Given the description of an element on the screen output the (x, y) to click on. 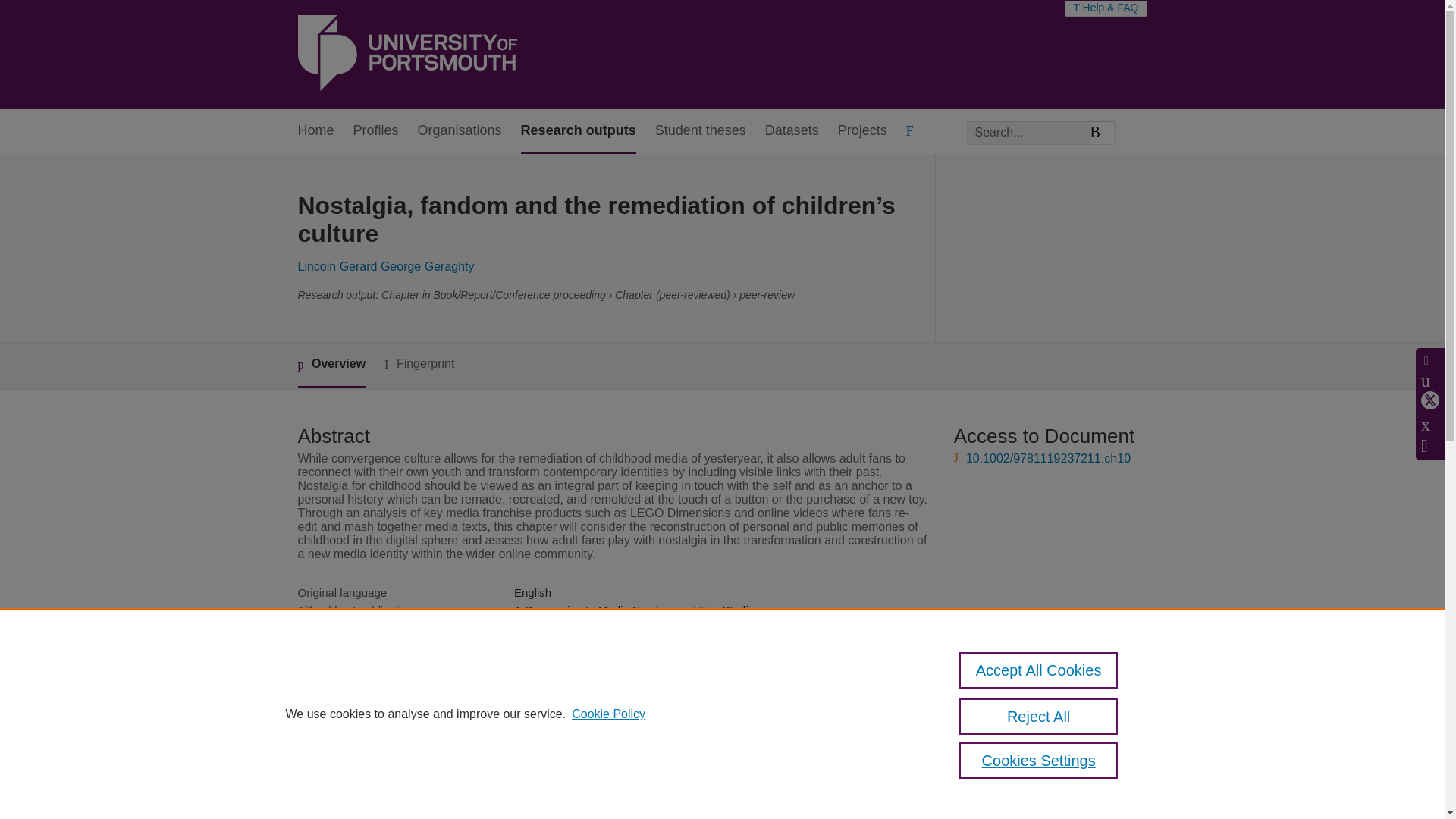
Datasets (791, 130)
University of Portsmouth Home (406, 54)
Fingerprint (419, 364)
Overview (331, 365)
Projects (862, 130)
Wiley-Blackwell (552, 662)
Student theses (700, 130)
Profiles (375, 130)
Lincoln Gerard George Geraghty (385, 266)
